Given the description of an element on the screen output the (x, y) to click on. 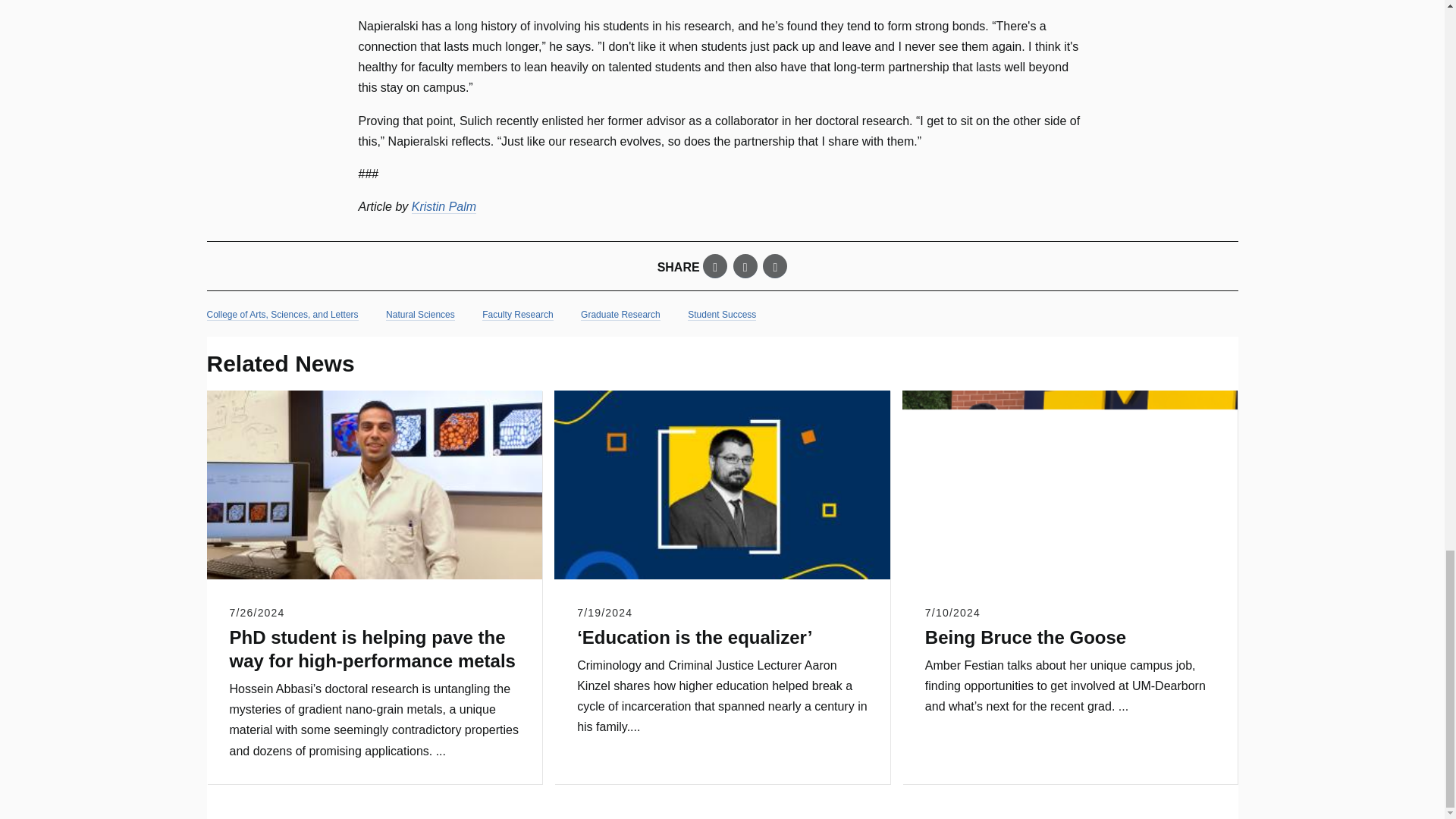
College of Arts, Sciences, and Letters (282, 315)
Kristin Palm (444, 206)
Faculty Research (517, 315)
Graduate Research (620, 315)
Natural Sciences (419, 315)
Student Success (721, 315)
